Given the description of an element on the screen output the (x, y) to click on. 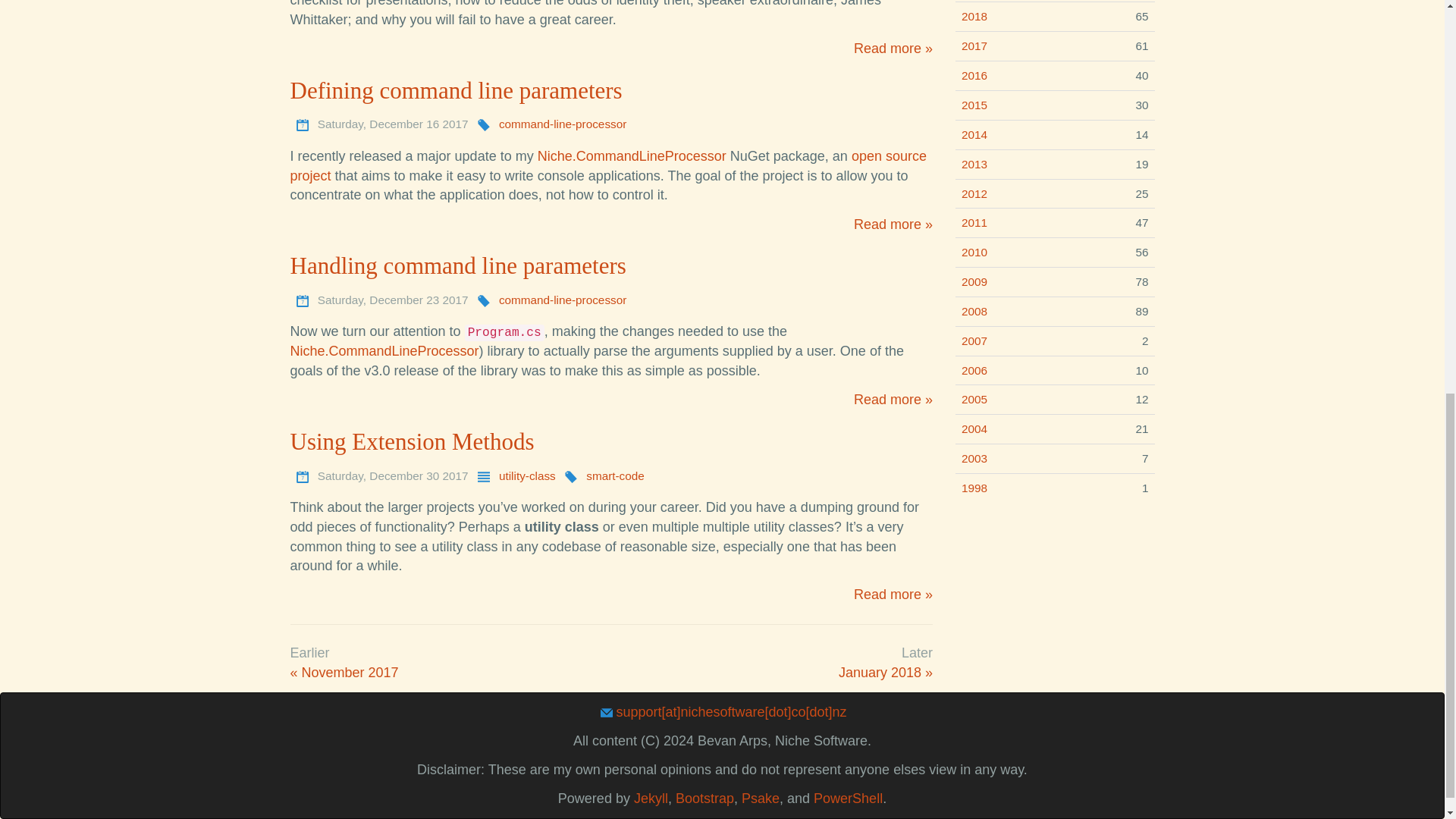
Niche.CommandLineProcessor (384, 350)
smart-code (615, 475)
utility-class (527, 475)
command-line-processor (562, 123)
open source project (607, 165)
Handling command line parameters (457, 265)
Defining command line parameters (455, 90)
command-line-processor (562, 299)
Using Extension Methods (411, 441)
Niche.CommandLineProcessor (631, 155)
